Given the description of an element on the screen output the (x, y) to click on. 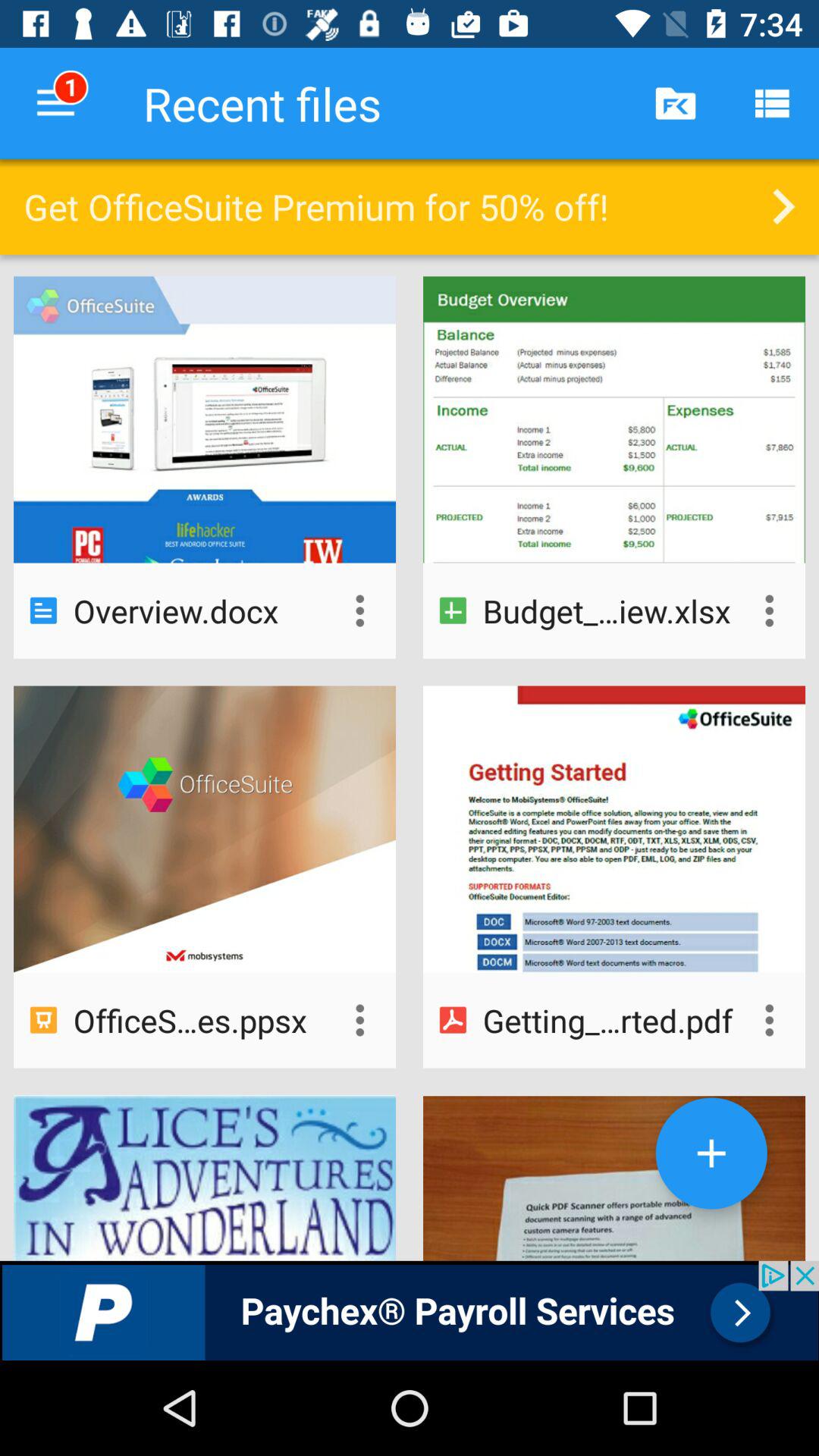
select more option (769, 610)
